Given the description of an element on the screen output the (x, y) to click on. 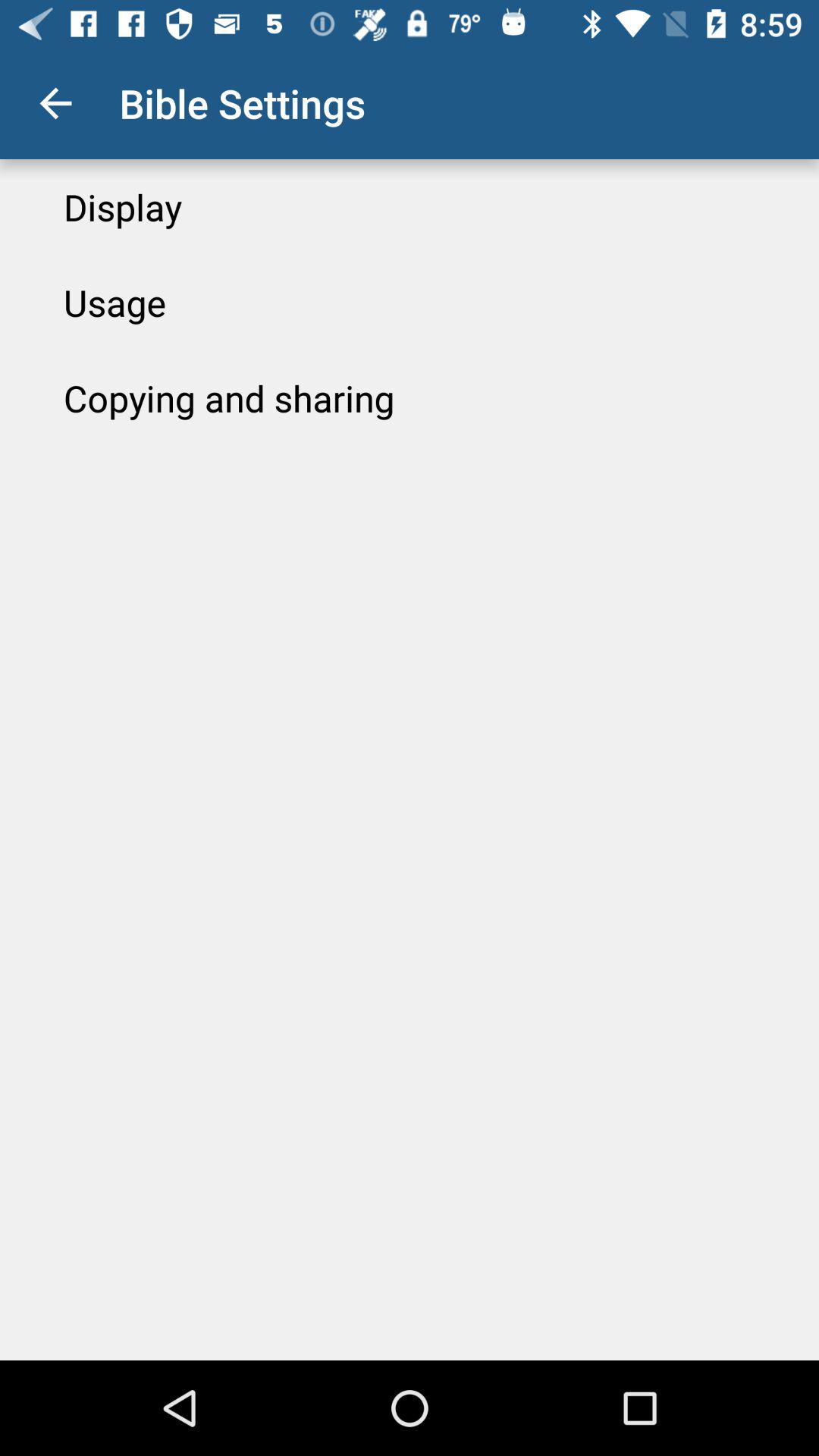
turn on the icon to the left of bible settings (55, 103)
